Given the description of an element on the screen output the (x, y) to click on. 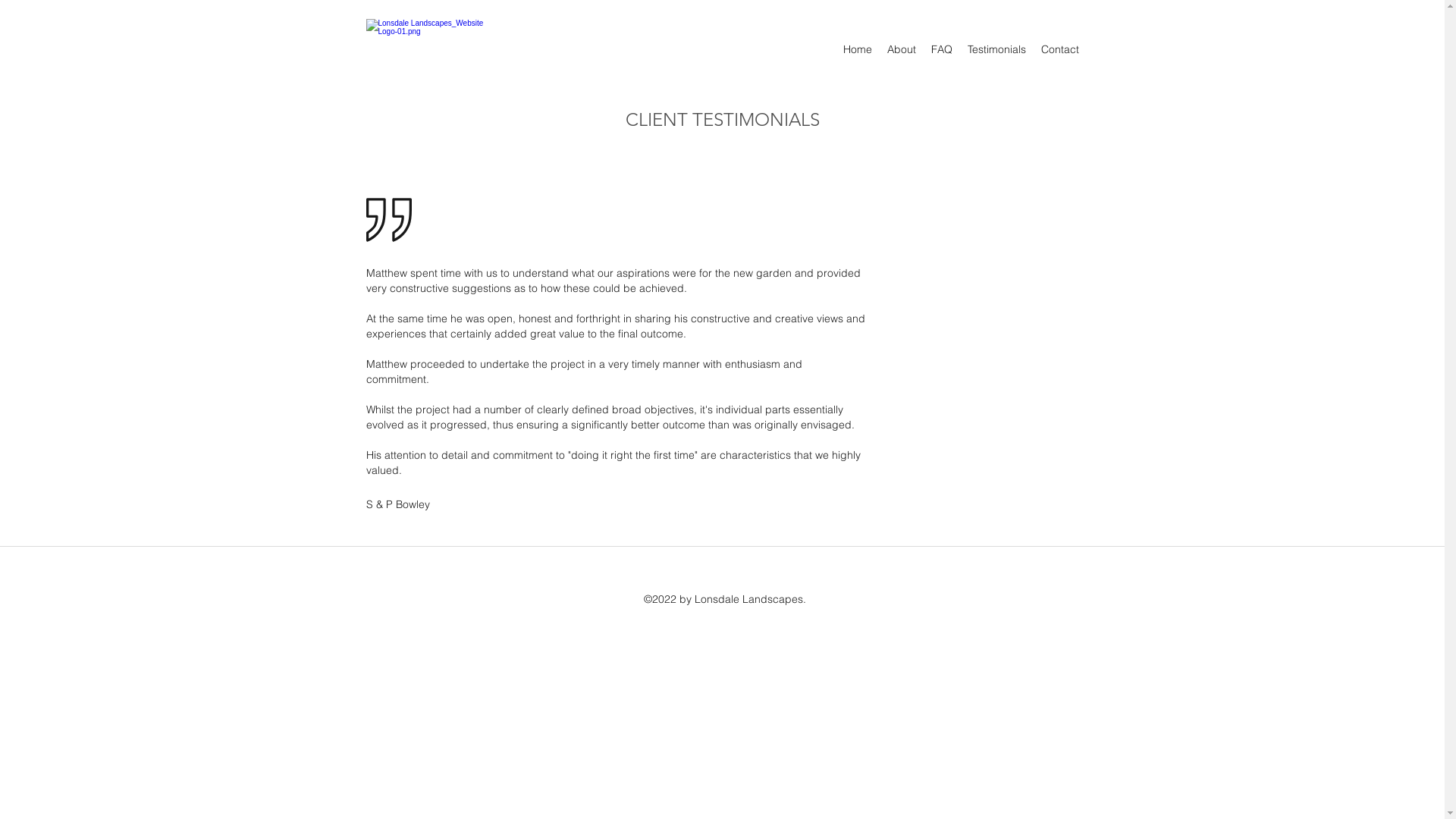
FAQ Element type: text (941, 48)
Home Element type: text (857, 48)
Testimonials Element type: text (996, 48)
About Element type: text (901, 48)
Contact Element type: text (1058, 48)
